Given the description of an element on the screen output the (x, y) to click on. 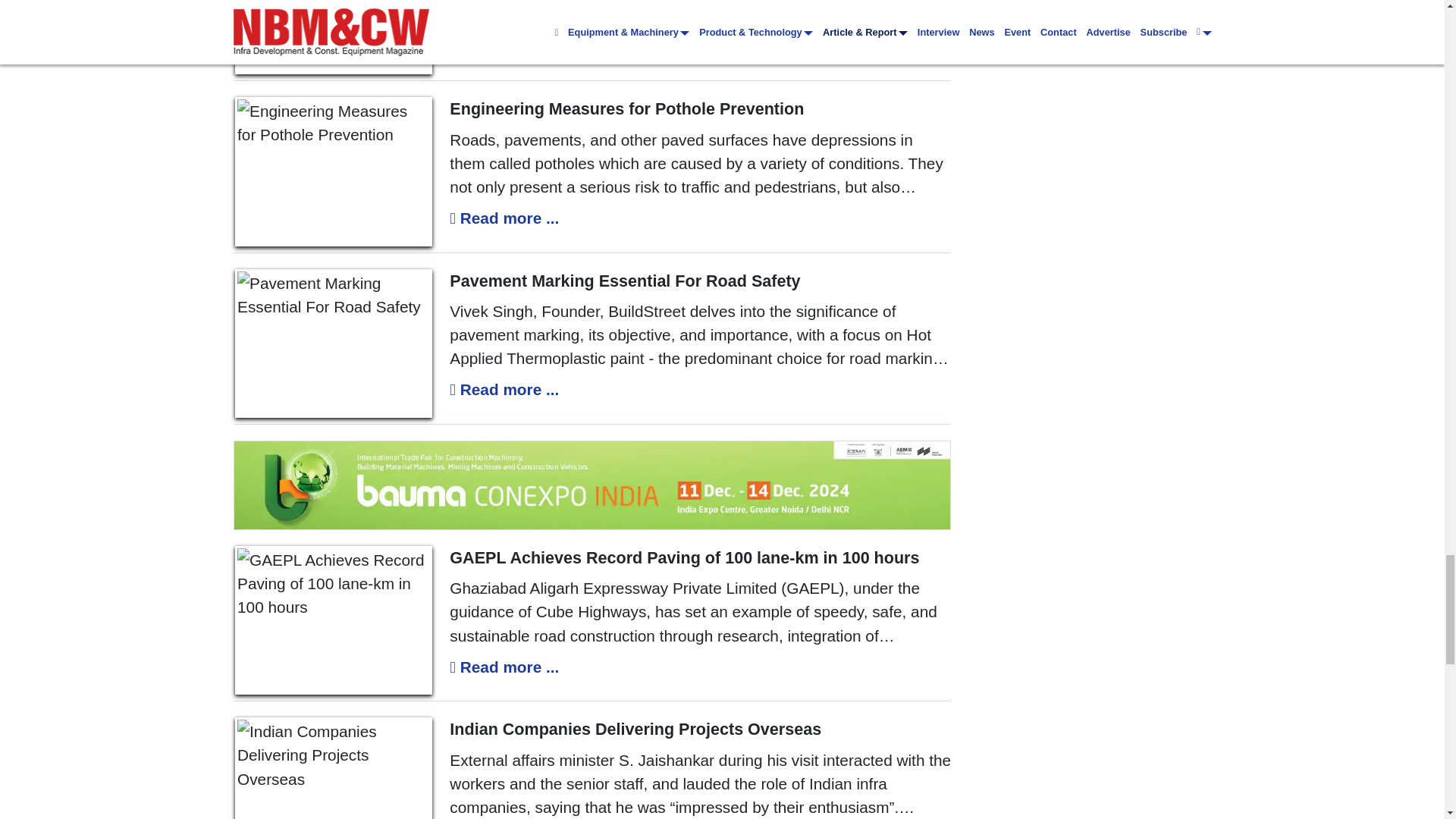
bauma Conexpo India 11 - 14 Dec 2024 (591, 485)
